Given the description of an element on the screen output the (x, y) to click on. 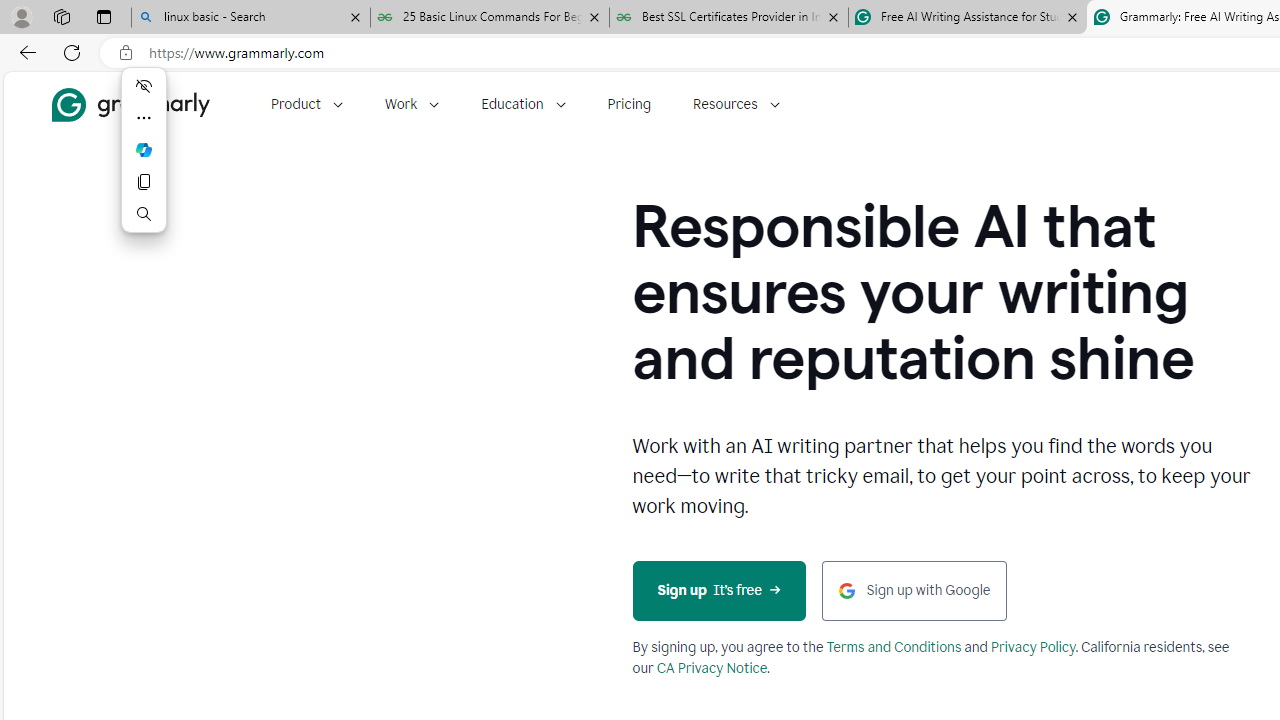
Sign up with Google (914, 590)
Copy (143, 182)
Grammarly Home (130, 104)
linux basic - Search (250, 17)
Grammarly Home (130, 104)
Hide menu (143, 85)
Product (306, 103)
More actions (143, 117)
Product (306, 104)
